Given the description of an element on the screen output the (x, y) to click on. 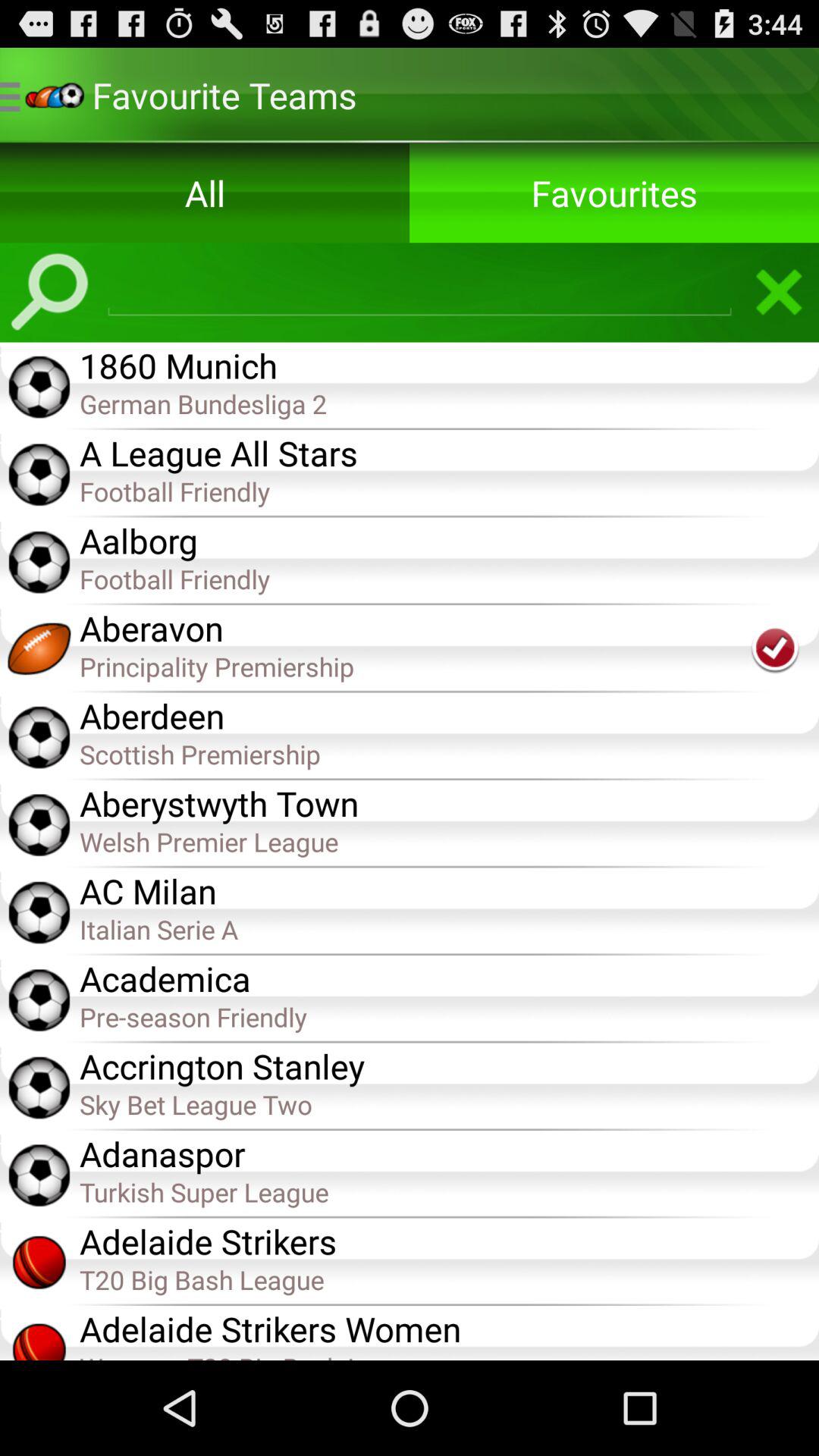
flip until the aberdeen item (449, 714)
